Given the description of an element on the screen output the (x, y) to click on. 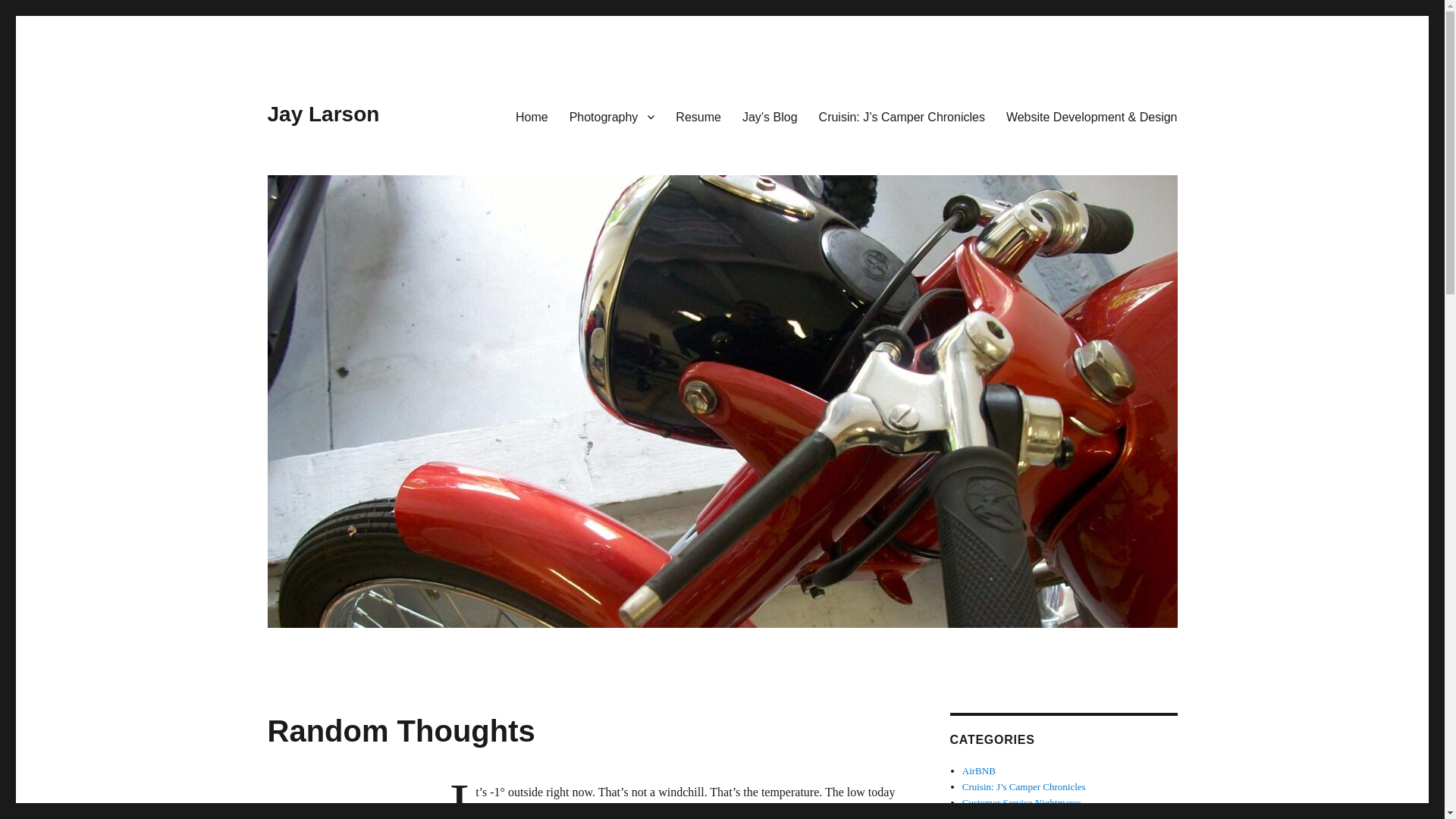
Customer Service Nightmares (1021, 802)
AirBNB (978, 770)
Jay Larson (322, 114)
Photography (612, 116)
Home (532, 116)
Resume (698, 116)
Everyday life (988, 816)
